Given the description of an element on the screen output the (x, y) to click on. 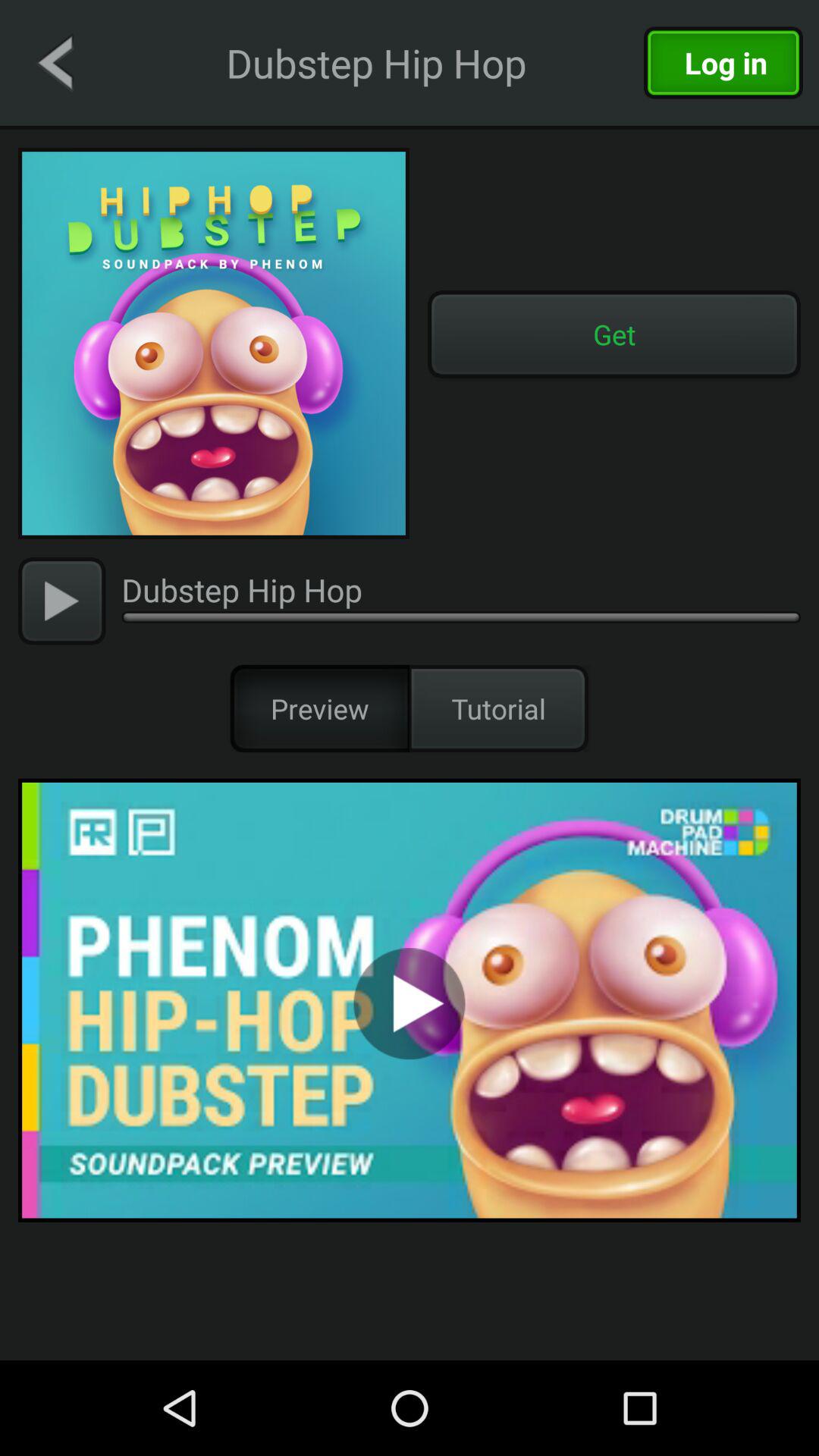
tap the item on the left (61, 600)
